Given the description of an element on the screen output the (x, y) to click on. 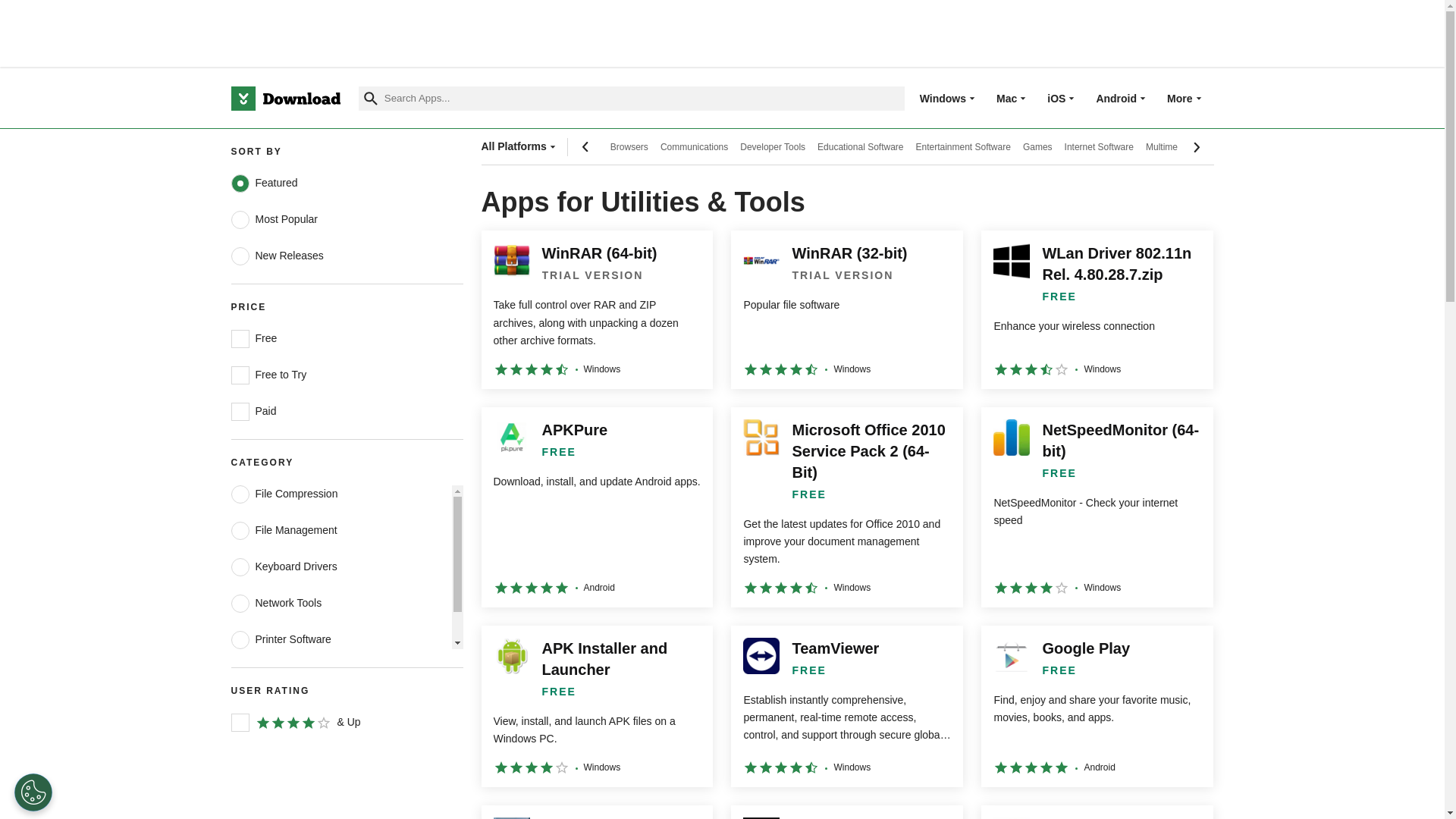
newReleases (239, 256)
Caffeine (1096, 812)
mostPopular (239, 219)
utilities-file-management (239, 530)
Google Play (1096, 706)
featured (239, 183)
utilities-file-compression (239, 494)
utilities-printer (239, 639)
networking-network-tools (239, 603)
Mac (1005, 97)
APKPure (596, 507)
APK Installer and Launcher (596, 706)
4up (239, 722)
TeamViewer (846, 706)
Windows (943, 97)
